Given the description of an element on the screen output the (x, y) to click on. 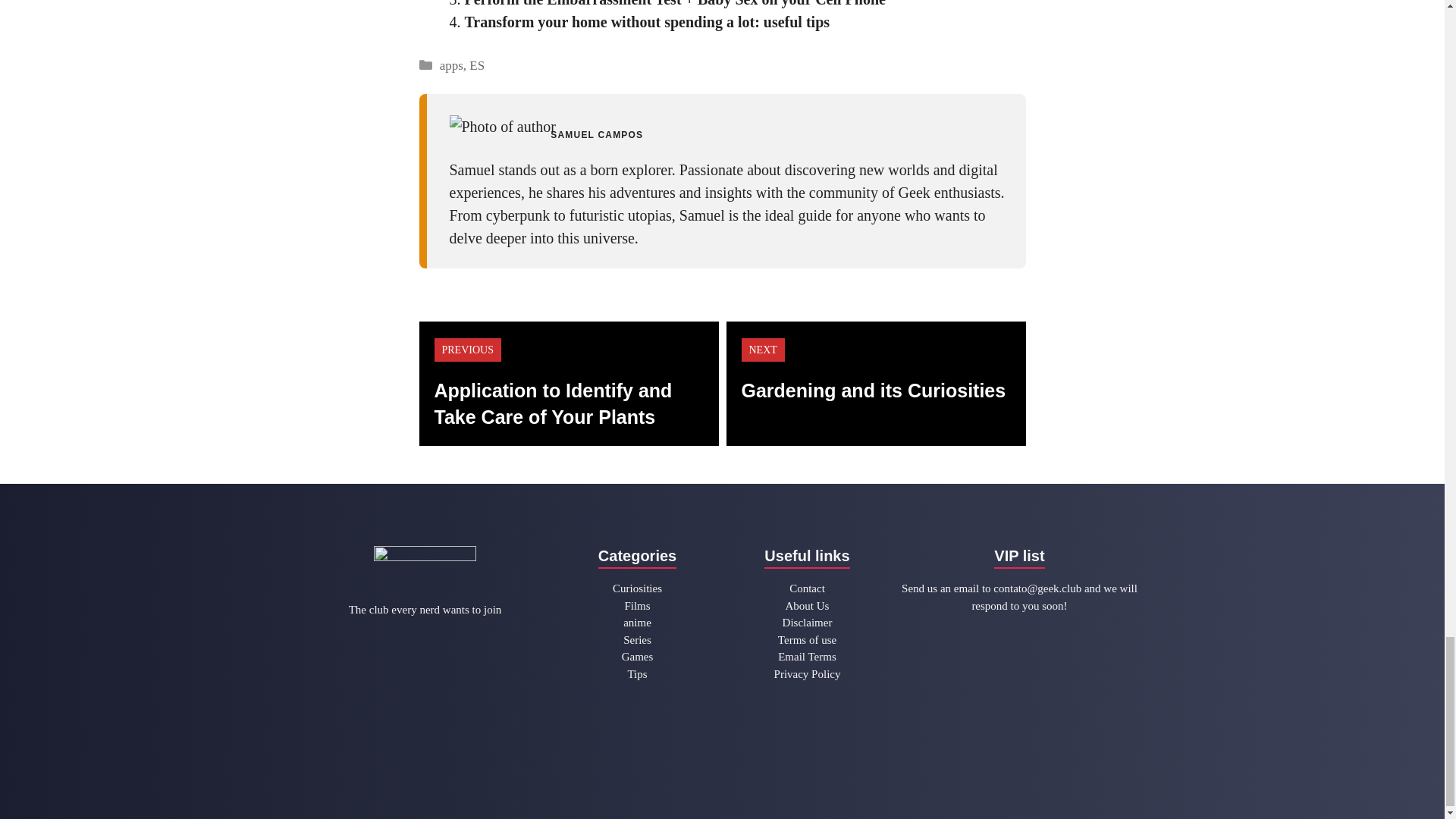
anime (636, 622)
Gardening and its Curiosities (873, 390)
Tips (636, 674)
Transform your home without spending a lot: useful tips (646, 21)
Games (637, 656)
Terms of use (806, 640)
Privacy Policy (807, 674)
Contact (807, 588)
About Us (807, 606)
Curiosities (637, 588)
